Given the description of an element on the screen output the (x, y) to click on. 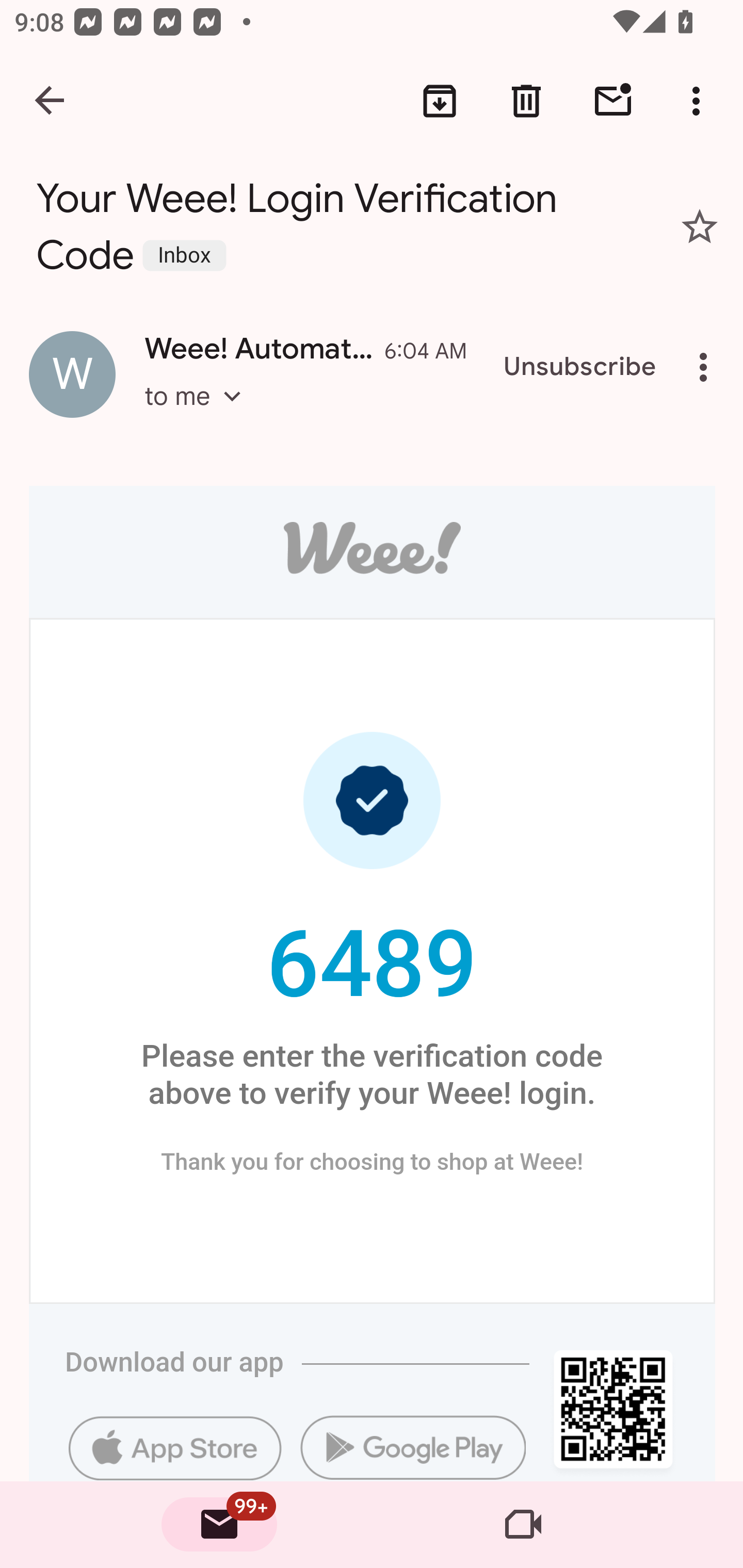
Navigate up (50, 101)
Archive (439, 101)
Delete (525, 101)
Mark unread (612, 101)
More options (699, 101)
Add star (699, 226)
Unsubscribe (579, 367)
More options (706, 367)
to me (199, 414)
Meet (523, 1524)
